Given the description of an element on the screen output the (x, y) to click on. 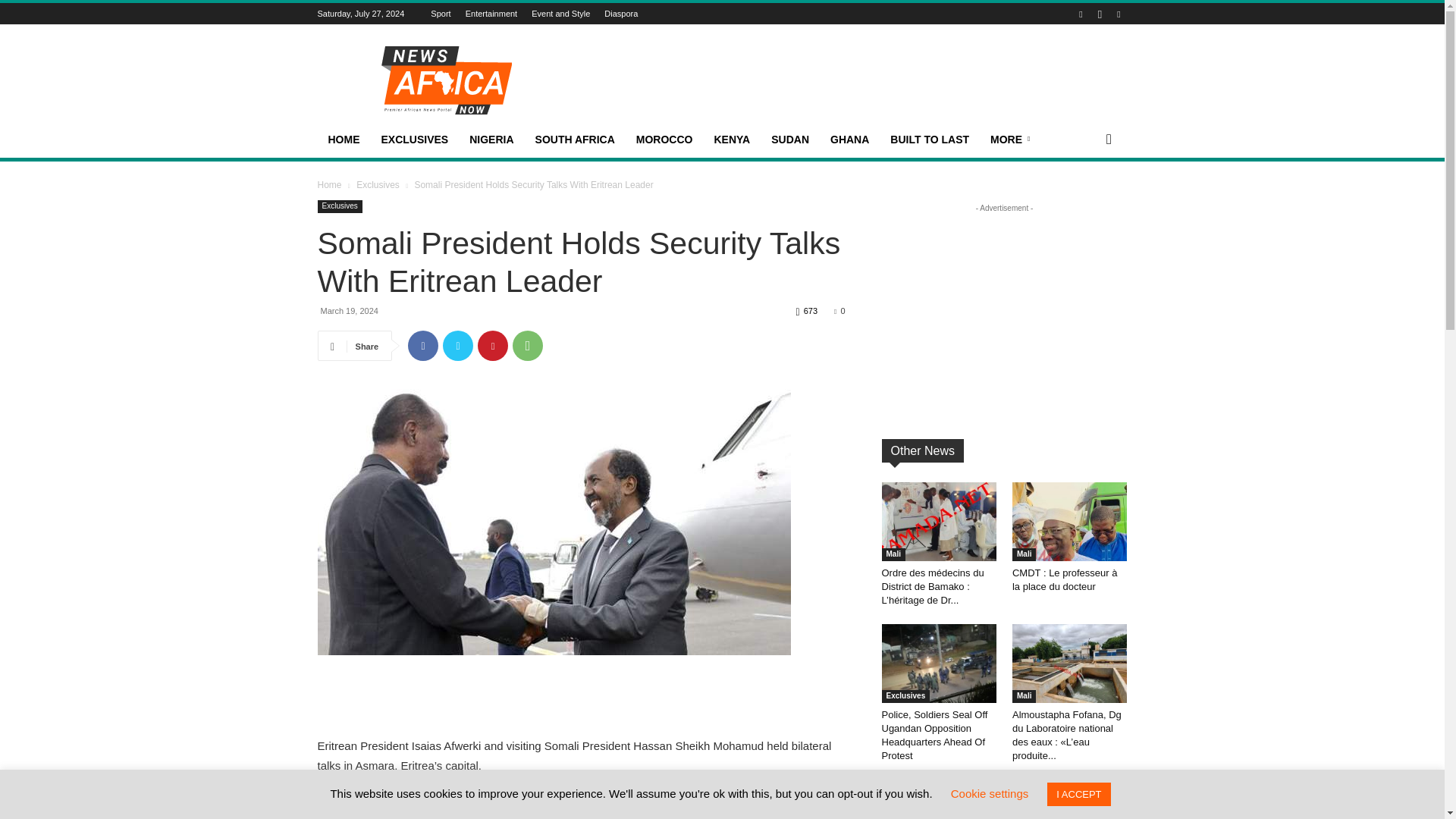
Advertisement (850, 79)
WhatsApp (527, 345)
Entertainment (490, 13)
EXCLUSIVES (413, 139)
Advertisement (580, 697)
Twitter (457, 345)
Pinterest (492, 345)
Event and Style (560, 13)
MOROCCO (664, 139)
Diaspora (620, 13)
View all posts in Exclusives (377, 184)
HOME (343, 139)
NIGERIA (491, 139)
IMG-20240319-WA0004 (553, 522)
Sport (439, 13)
